Given the description of an element on the screen output the (x, y) to click on. 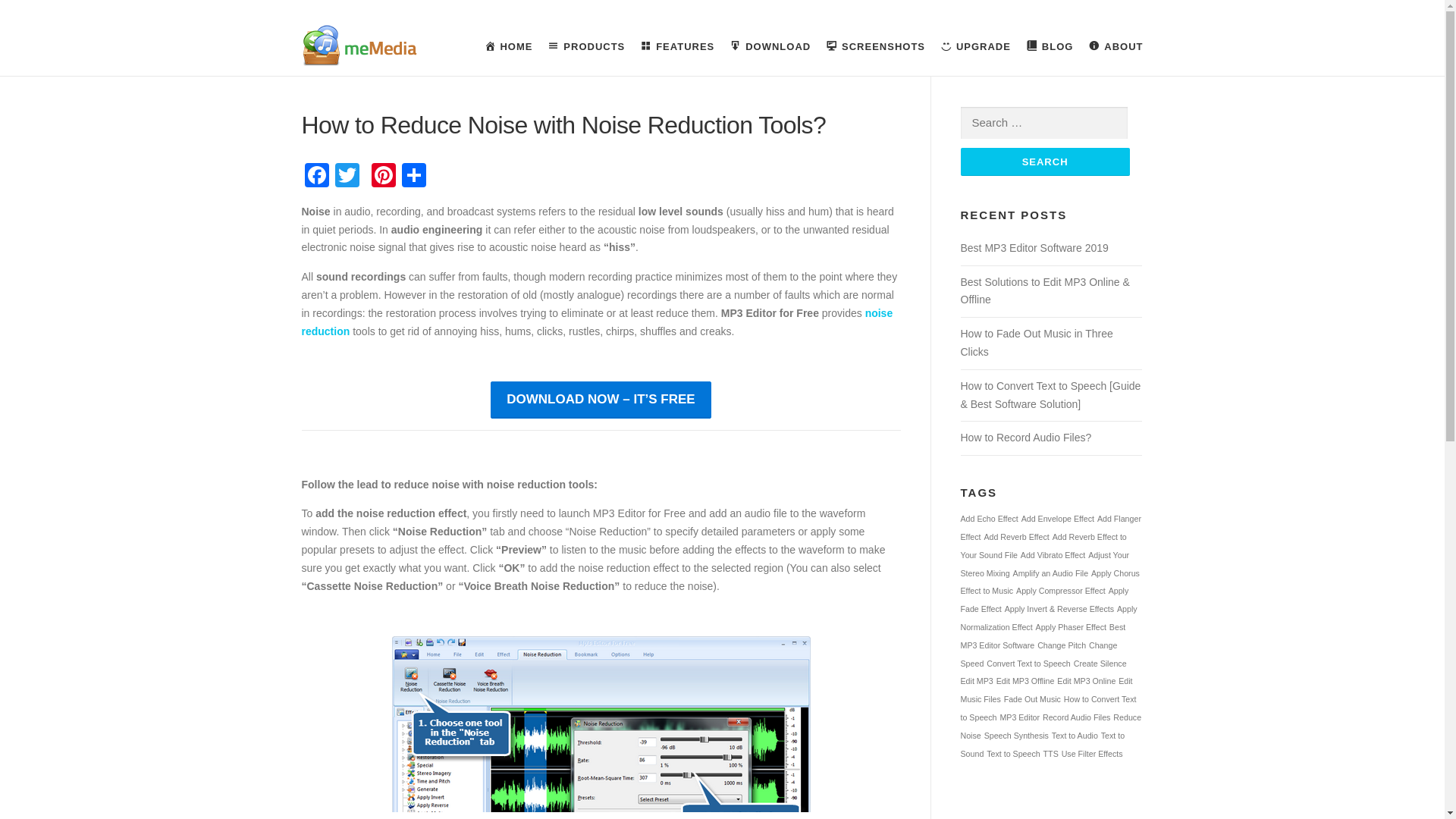
Search (1044, 162)
Add Echo Effect (988, 518)
noise reduction (597, 322)
How to Record Audio Files? (1024, 437)
Skip to content (34, 27)
PRODUCTS (585, 47)
FEATURES (676, 47)
Add Envelope Effect (1058, 518)
ABOUT (1111, 47)
Pinterest (383, 176)
SCREENSHOTS (875, 47)
DOWNLOAD (770, 47)
Search (1044, 162)
Search (1044, 162)
Facebook (316, 176)
